Given the description of an element on the screen output the (x, y) to click on. 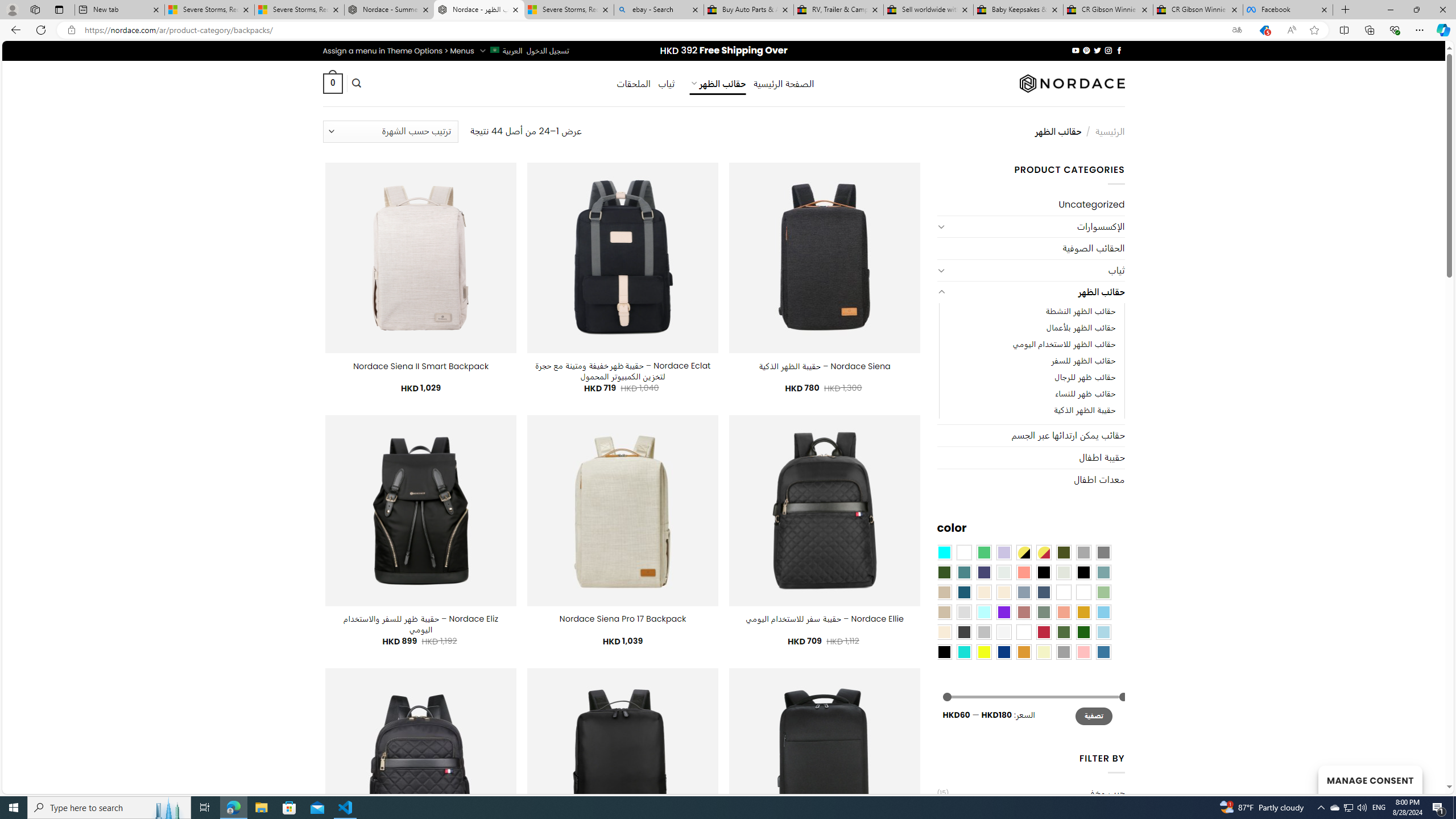
Follow on Pinterest (1086, 50)
Khaki (1082, 591)
Follow on YouTube (1074, 50)
All Black (1043, 572)
Yellow-Black (1023, 551)
